Given the description of an element on the screen output the (x, y) to click on. 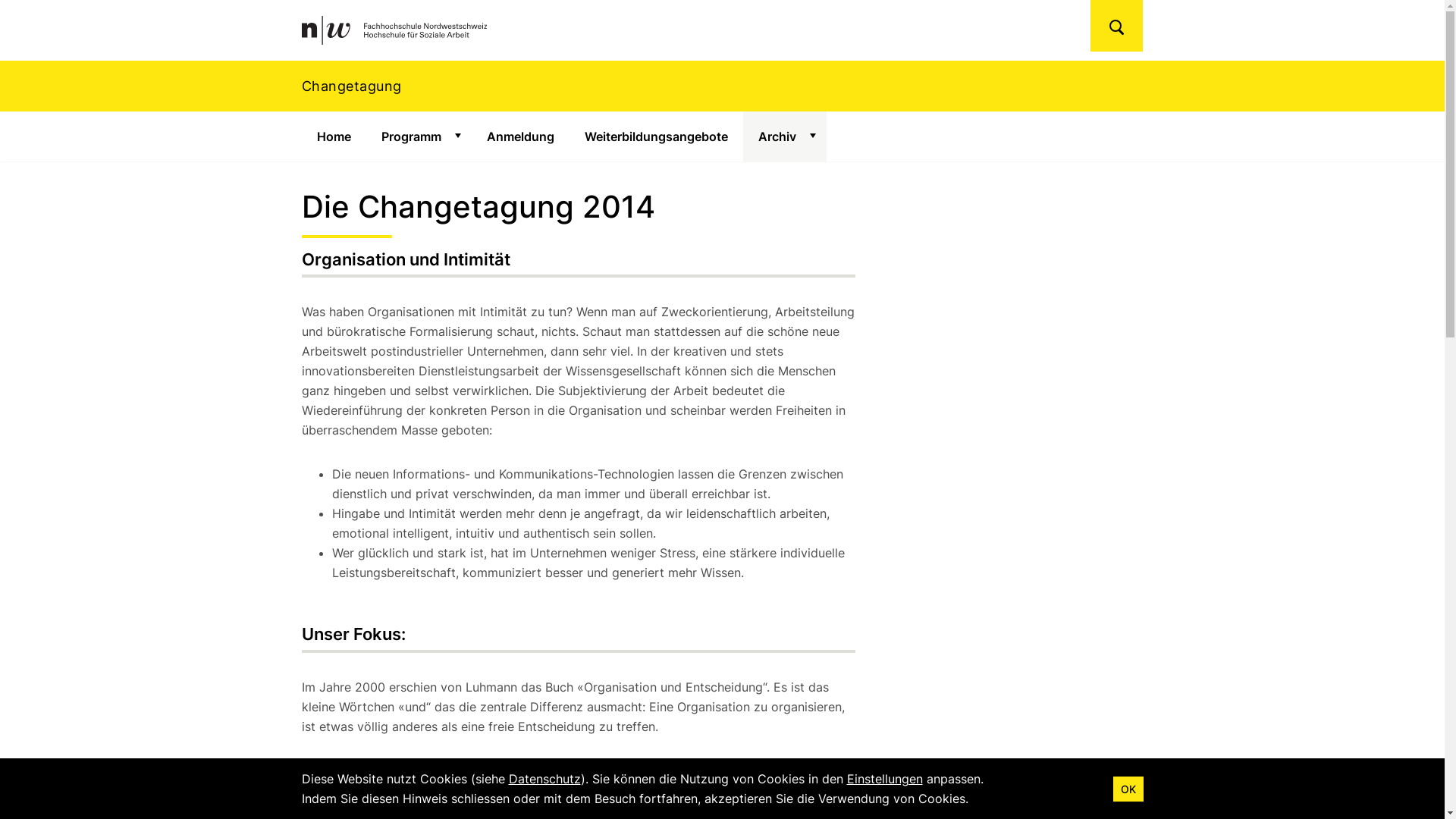
Datenschutz Element type: text (544, 778)
Suchen Element type: text (1116, 25)
Weiterbildungsangebote Element type: text (655, 136)
Home Element type: text (333, 136)
Einstellungen Element type: text (884, 778)
OK Element type: text (1128, 788)
Changetagung Element type: text (722, 86)
Anmeldung Element type: text (520, 136)
